Given the description of an element on the screen output the (x, y) to click on. 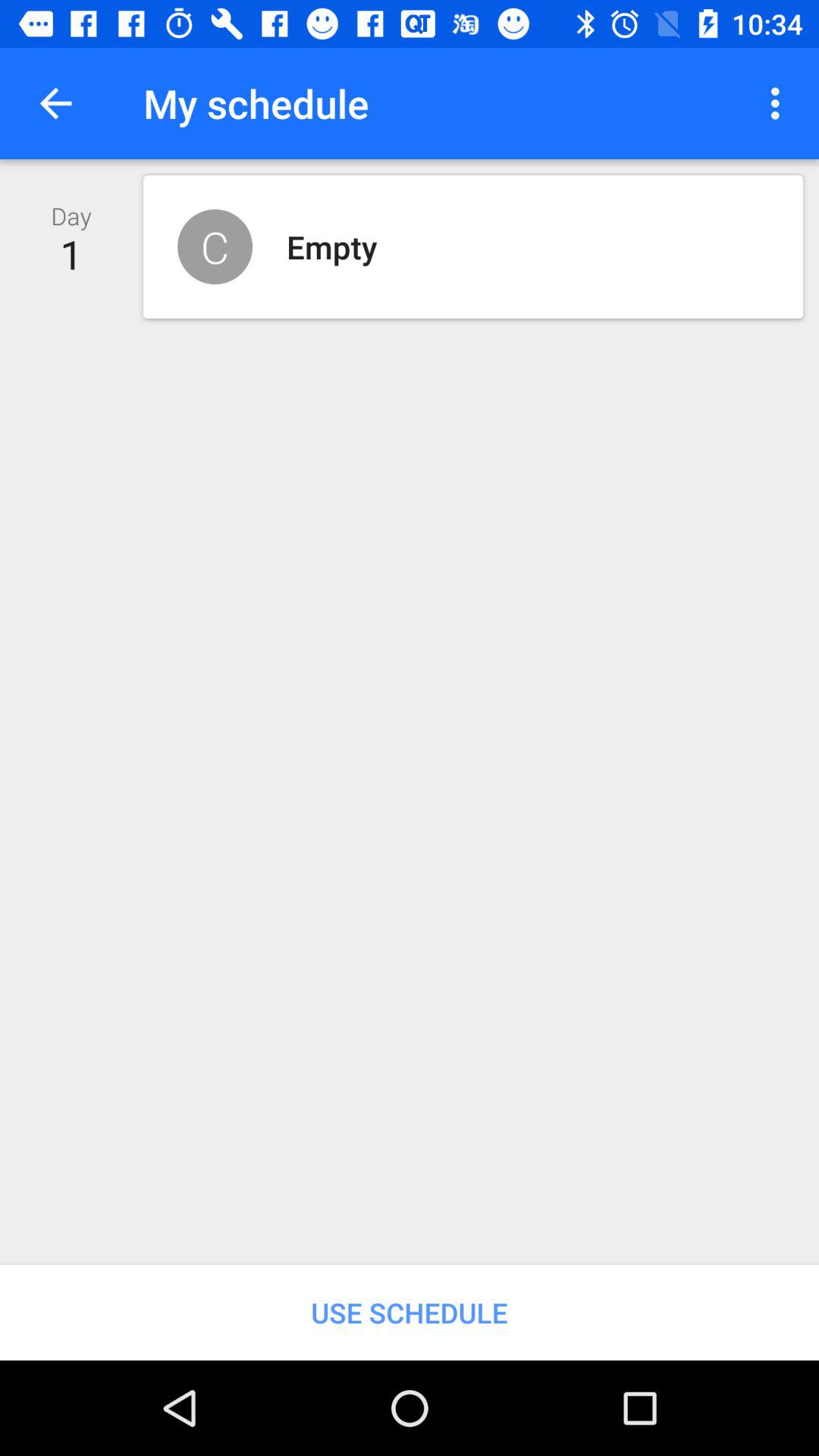
choose the item at the top right corner (779, 103)
